Given the description of an element on the screen output the (x, y) to click on. 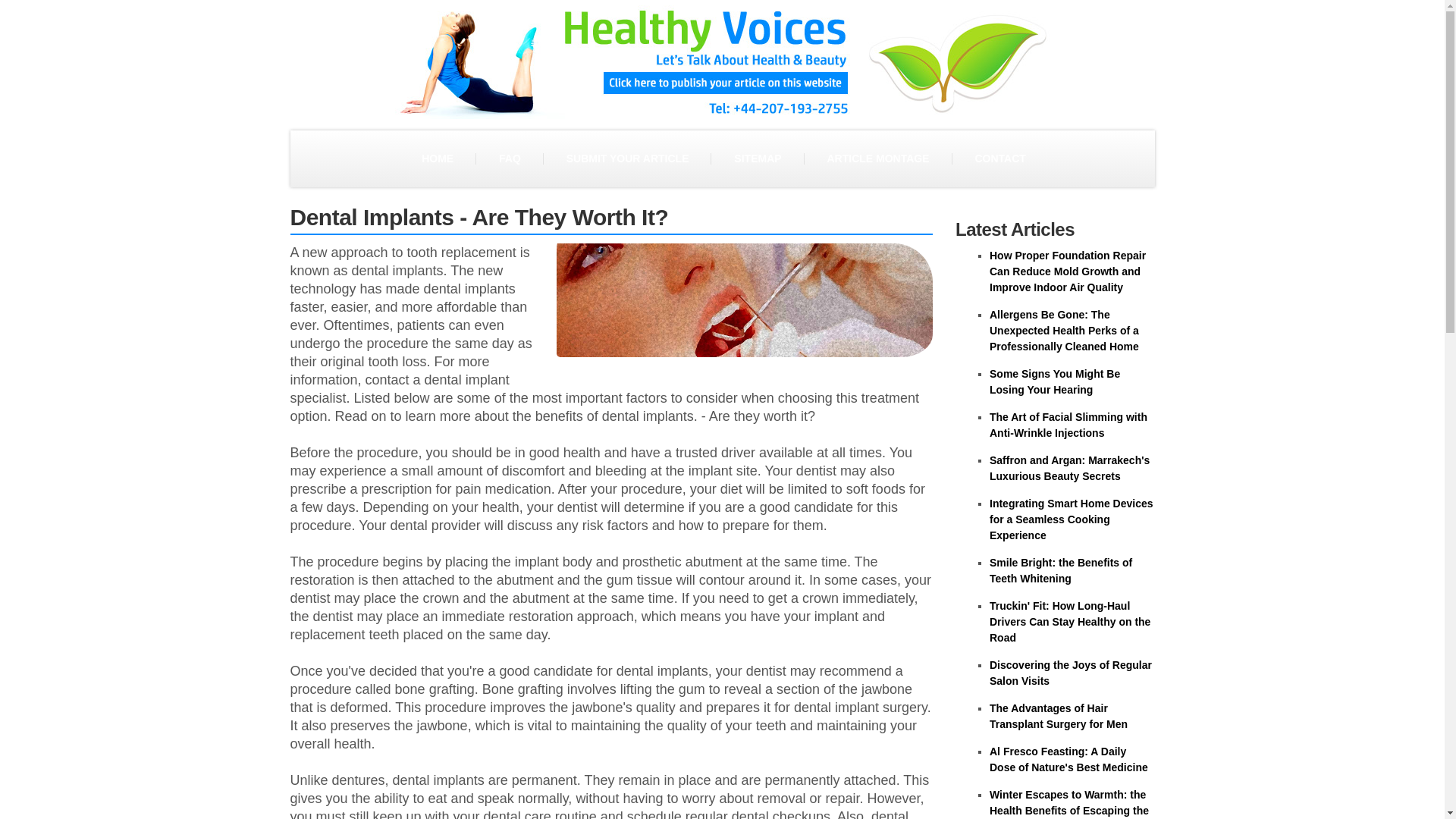
The Art of Facial Slimming with Anti-Wrinkle Injections (1068, 424)
ARTICLE MONTAGE (877, 158)
CONTACT (1000, 158)
The Advantages of Hair Transplant Surgery for Men (1058, 715)
Al Fresco Feasting: A Daily Dose of Nature's Best Medicine (1069, 759)
SITEMAP (757, 158)
